Given the description of an element on the screen output the (x, y) to click on. 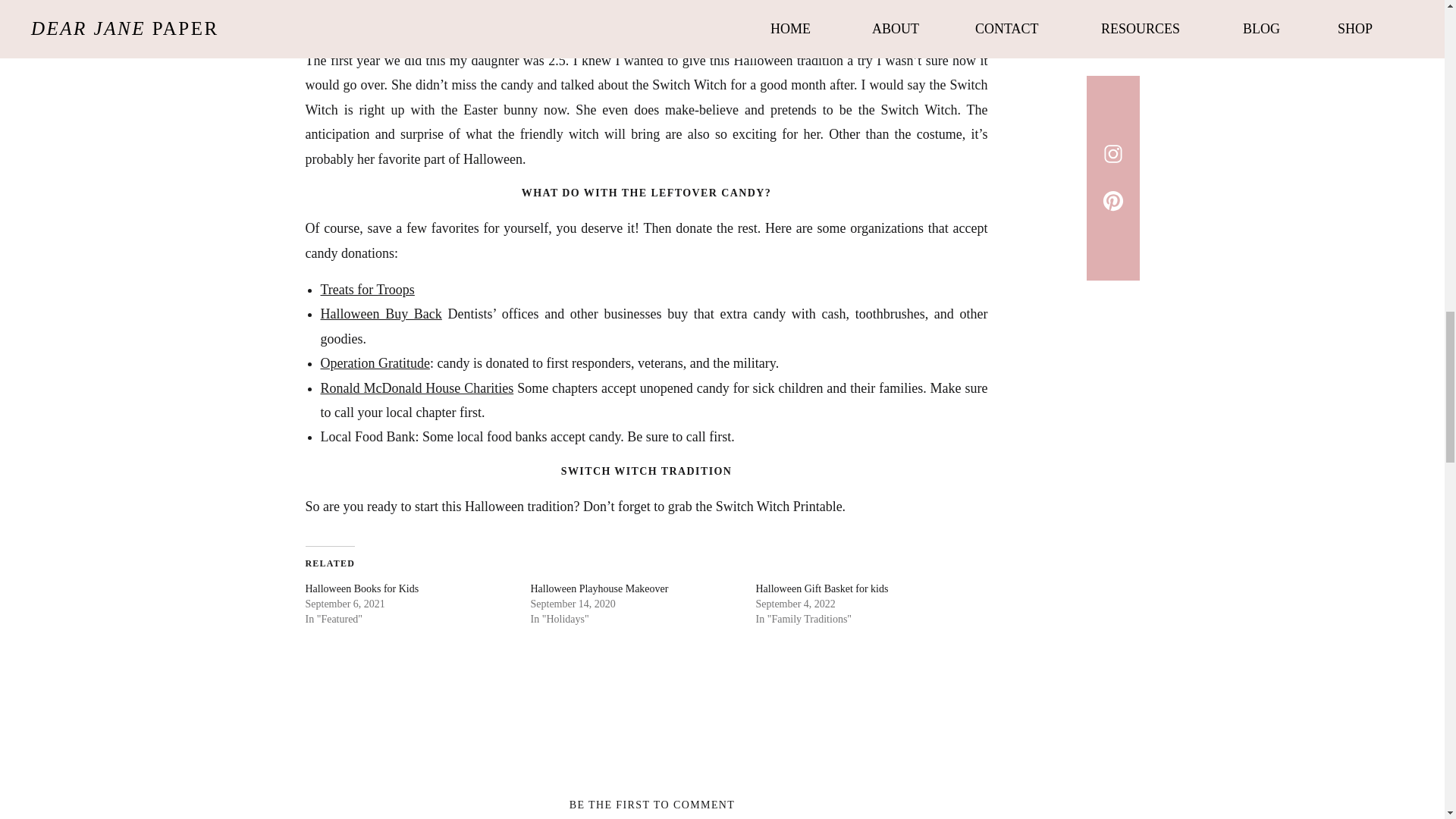
Halloween Books for Kids (361, 588)
Operation Gratitude (374, 363)
Halloween Playhouse Makeover (599, 588)
Treats for Troops (366, 289)
Halloween Buy Back (380, 313)
Halloween Playhouse Makeover (599, 588)
Halloween Gift Basket for kids (821, 588)
BE THE FIRST TO COMMENT (652, 804)
Halloween Books for Kids (361, 588)
Halloween Gift Basket for kids (821, 588)
Ronald McDonald House Charities (416, 387)
